Given the description of an element on the screen output the (x, y) to click on. 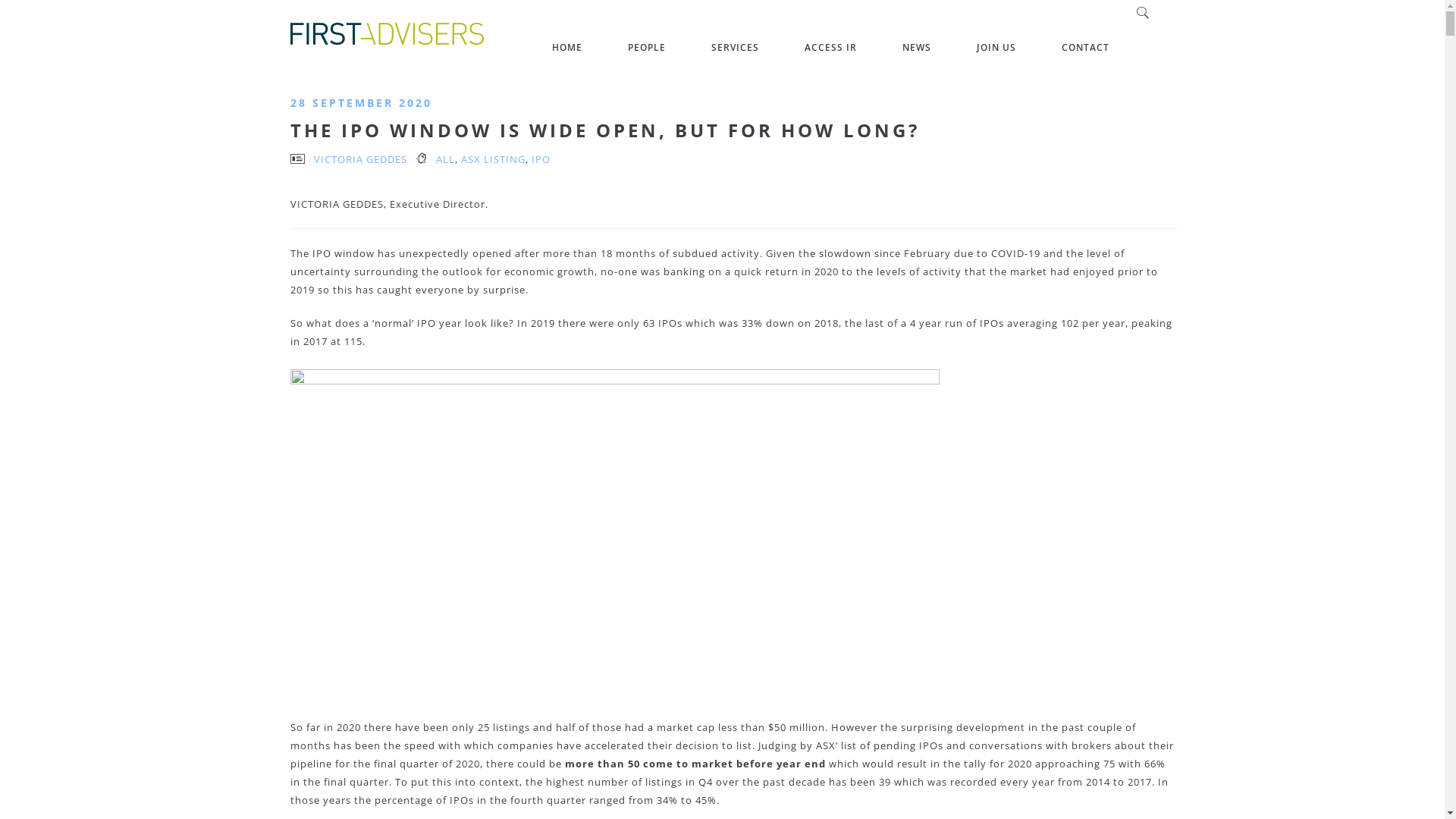
PEOPLE Element type: text (646, 47)
CONTACT Element type: text (1085, 47)
ALL Element type: text (444, 159)
JOIN US Element type: text (996, 47)
SERVICES Element type: text (735, 47)
HOME Element type: text (566, 47)
ASX LISTING Element type: text (493, 159)
NEWS Element type: text (916, 47)
VICTORIA GEDDES Element type: text (360, 159)
THE IPO WINDOW IS WIDE OPEN, BUT FOR HOW LONG? Element type: text (604, 129)
IPO Element type: text (539, 159)
ACCESS IR Element type: text (829, 47)
